Given the description of an element on the screen output the (x, y) to click on. 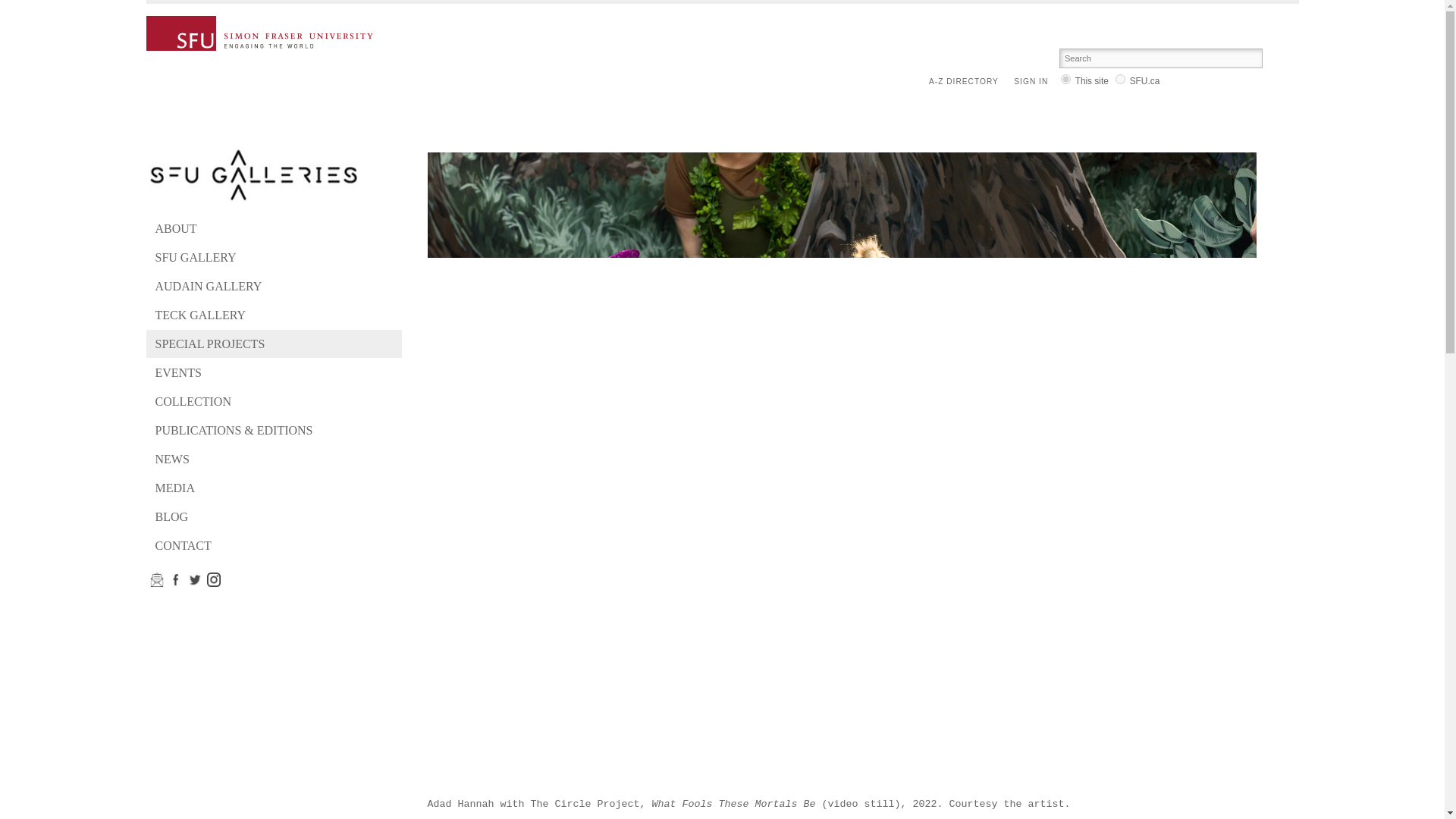
SIGN IN (1034, 82)
site (1065, 79)
sfu (1120, 79)
A-Z DIRECTORY (967, 82)
